Given the description of an element on the screen output the (x, y) to click on. 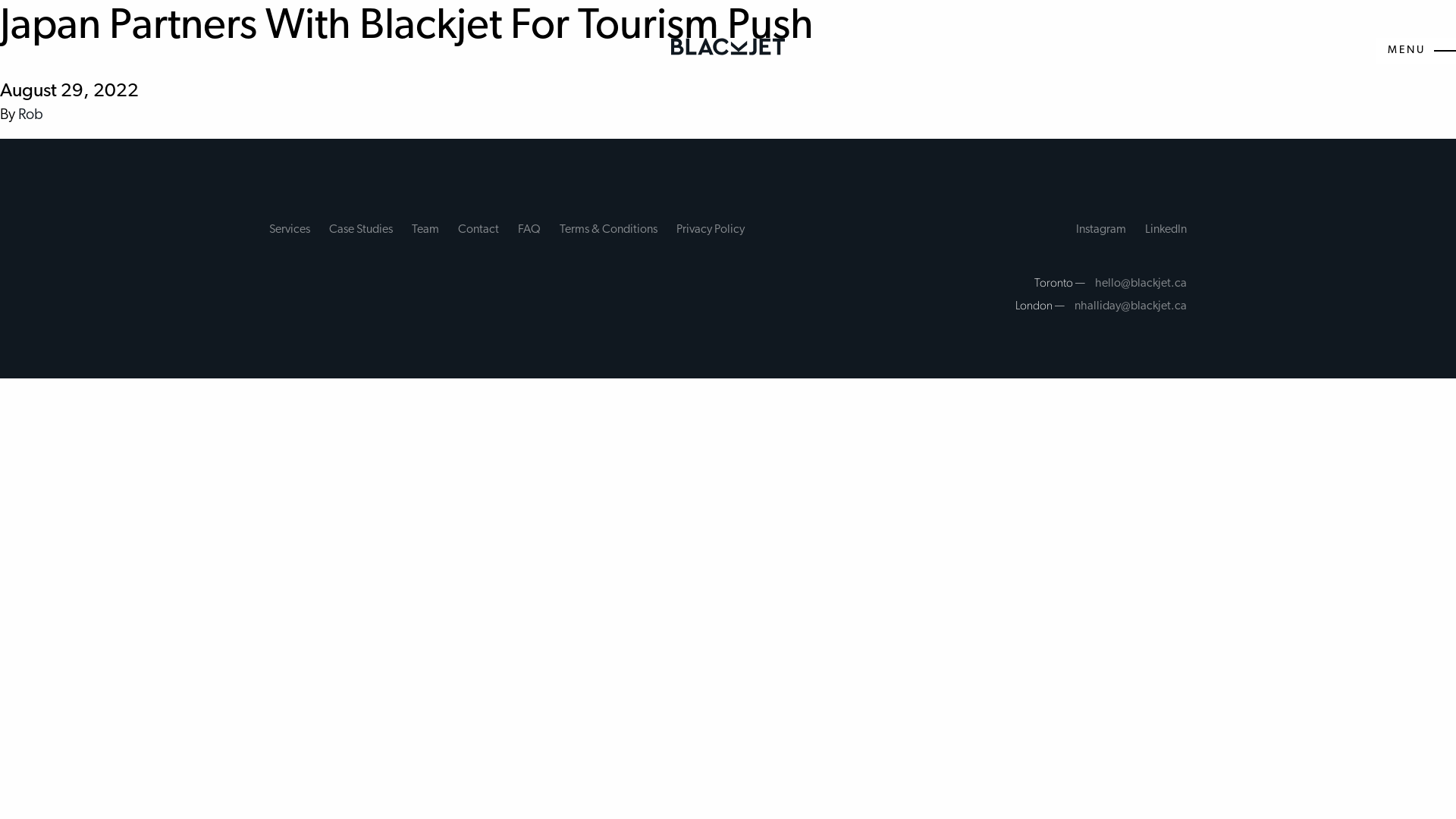
Services Element type: text (289, 229)
hello@blackjet.ca Element type: text (1140, 283)
Privacy Policy Element type: text (710, 229)
LinkedIn Element type: text (1165, 229)
Blackjet. A Brand and Business Consultancy. Element type: text (727, 47)
Team Element type: text (425, 229)
nhalliday@blackjet.ca Element type: text (1130, 305)
Terms & Conditions Element type: text (608, 229)
Rob Element type: text (30, 114)
Contact Element type: text (478, 229)
Case Studies Element type: text (360, 229)
Instagram Element type: text (1100, 229)
FAQ Element type: text (529, 229)
